Given the description of an element on the screen output the (x, y) to click on. 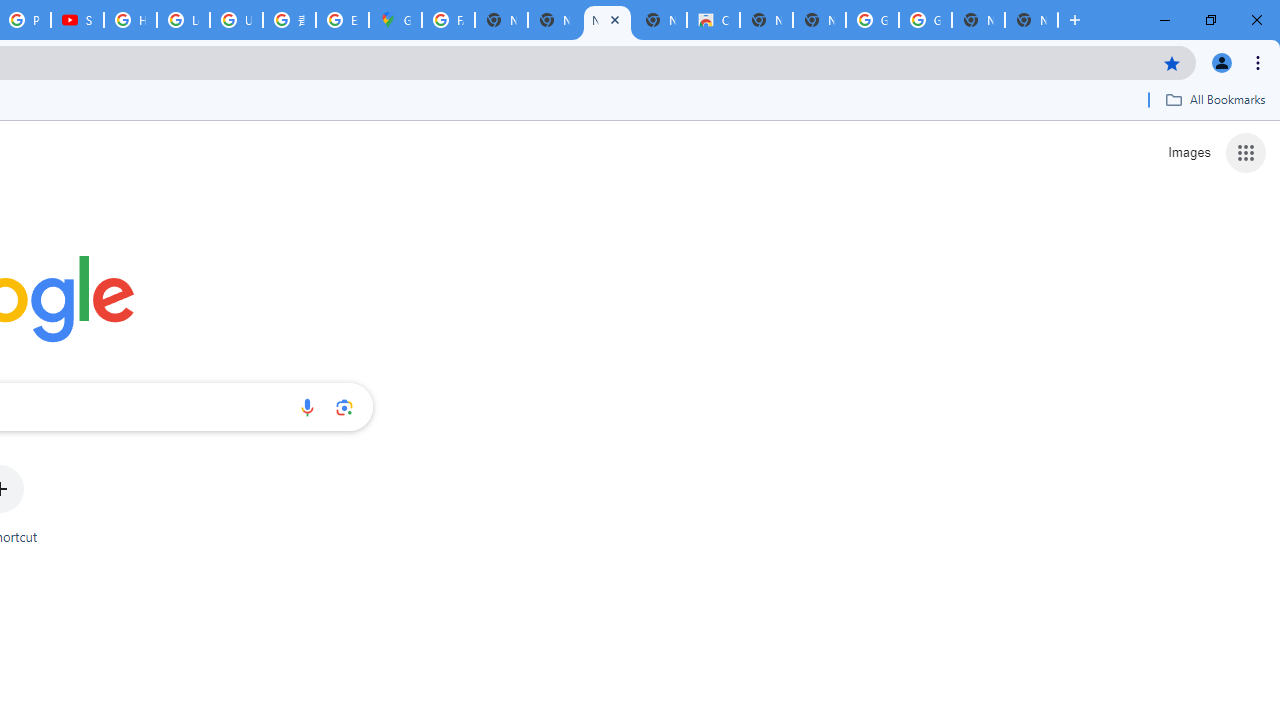
Explore new street-level details - Google Maps Help (342, 20)
How Chrome protects your passwords - Google Chrome Help (130, 20)
Google Maps (395, 20)
